Given the description of an element on the screen output the (x, y) to click on. 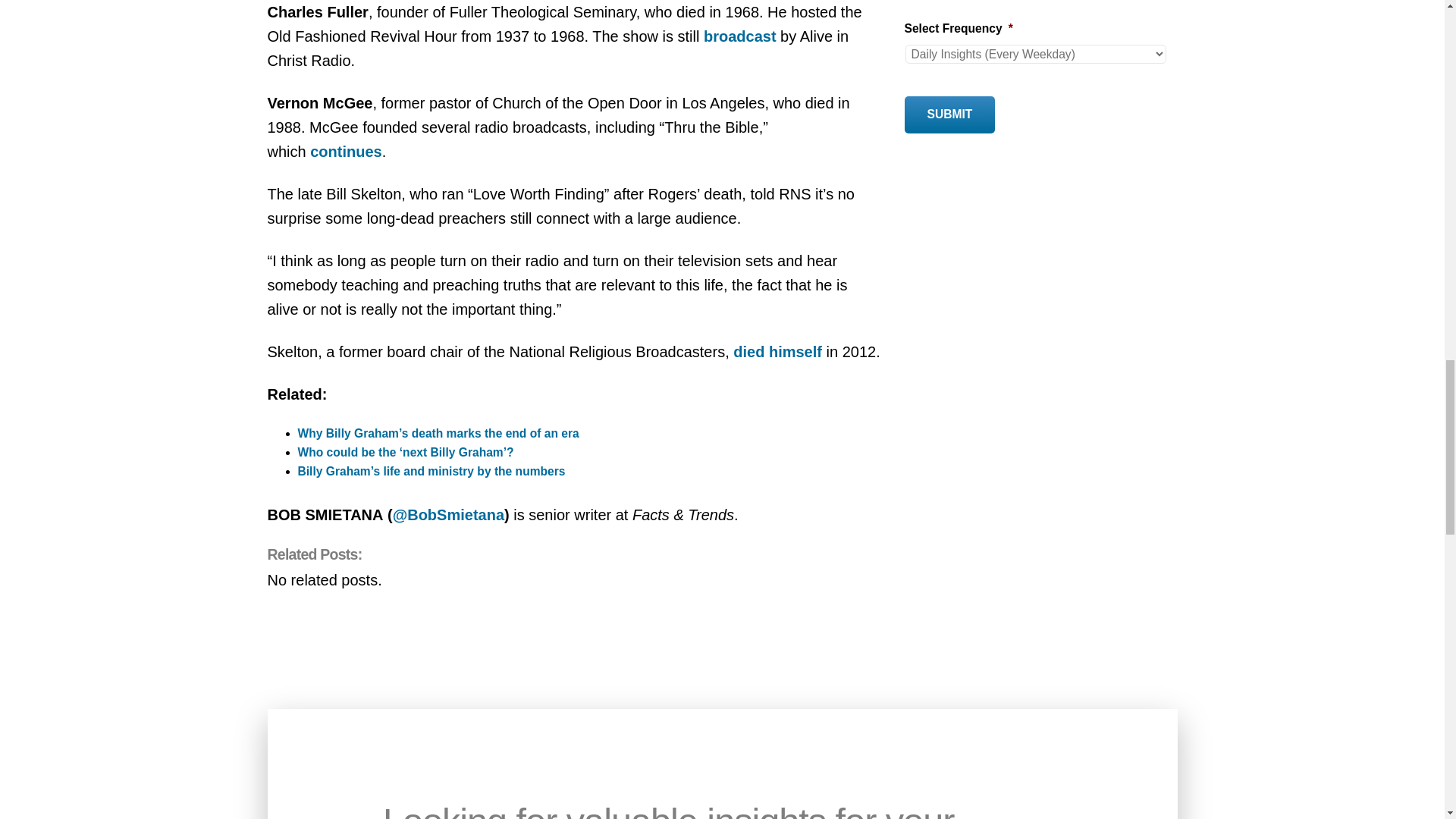
broadcast (739, 36)
died himself (777, 351)
Submit (949, 114)
Submit (949, 114)
continues (345, 151)
